Given the description of an element on the screen output the (x, y) to click on. 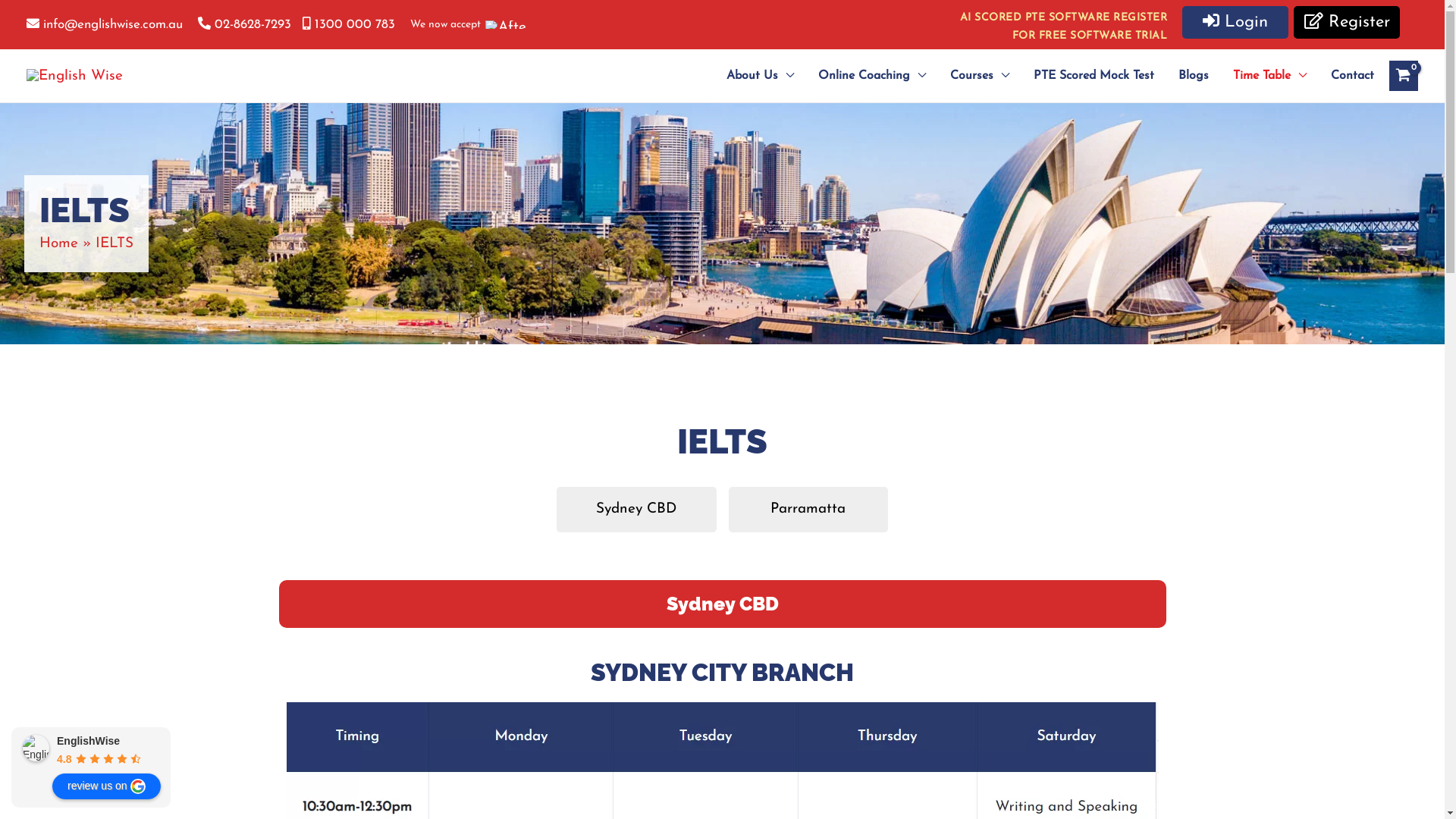
Time Table Element type: text (1269, 75)
PTE Scored Mock Test Element type: text (1093, 75)
Sydney CBD Element type: text (636, 508)
Blogs Element type: text (1193, 75)
info@englishwise.com.au Element type: text (104, 24)
Home Element type: text (58, 243)
EnglishWise Element type: text (87, 740)
Contact Element type: text (1346, 75)
AI SCORED PTE SOFTWARE REGISTER FOR FREE SOFTWARE TRIAL Element type: text (1063, 26)
Register Element type: text (1346, 22)
1300 000 783 Element type: text (348, 24)
EnglishWise Element type: hover (35, 747)
Online Coaching Element type: text (872, 75)
Login Element type: text (1235, 22)
Parramatta Element type: text (808, 508)
About Us Element type: text (760, 75)
02-8628-7293 Element type: text (244, 24)
review us on Element type: text (106, 786)
Courses Element type: text (979, 75)
